Given the description of an element on the screen output the (x, y) to click on. 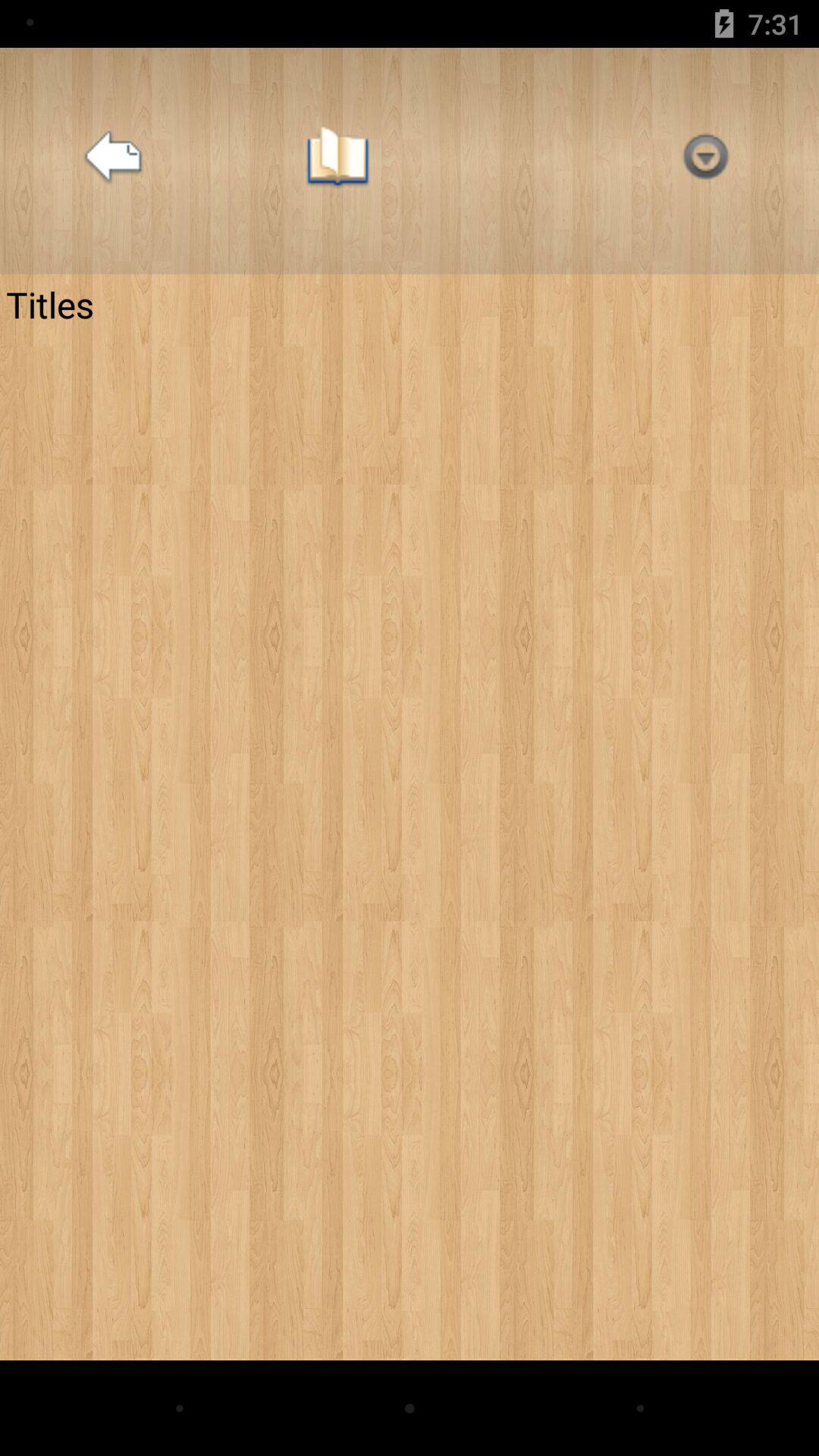
launch the icon above titles icon (112, 160)
